Given the description of an element on the screen output the (x, y) to click on. 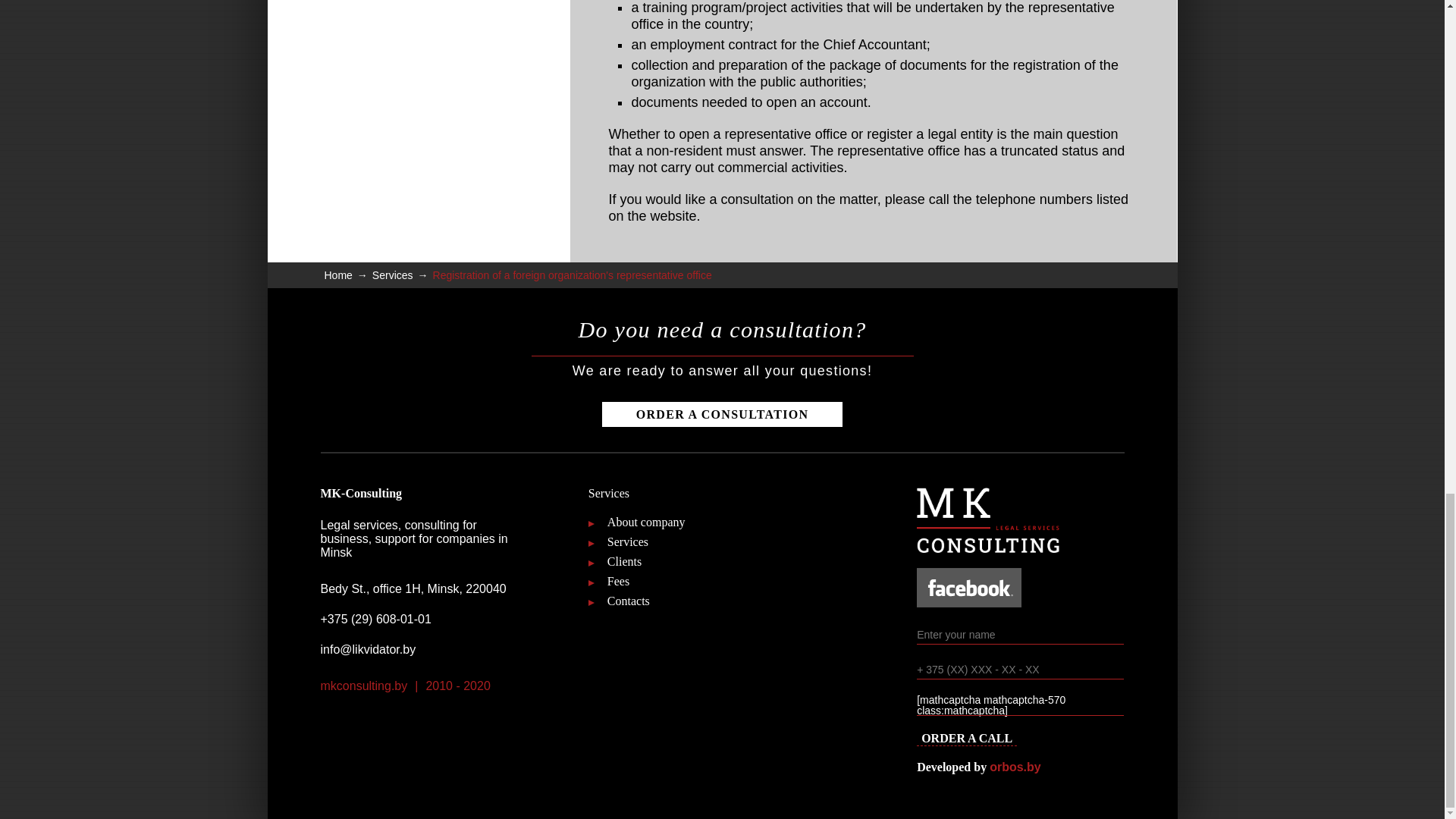
ORDER A CALL (966, 739)
Clients (722, 561)
About company (722, 522)
Services (722, 542)
Fees (722, 581)
Contacts (722, 600)
Home (338, 275)
ORDER A CALL (966, 739)
Services (392, 275)
